Given the description of an element on the screen output the (x, y) to click on. 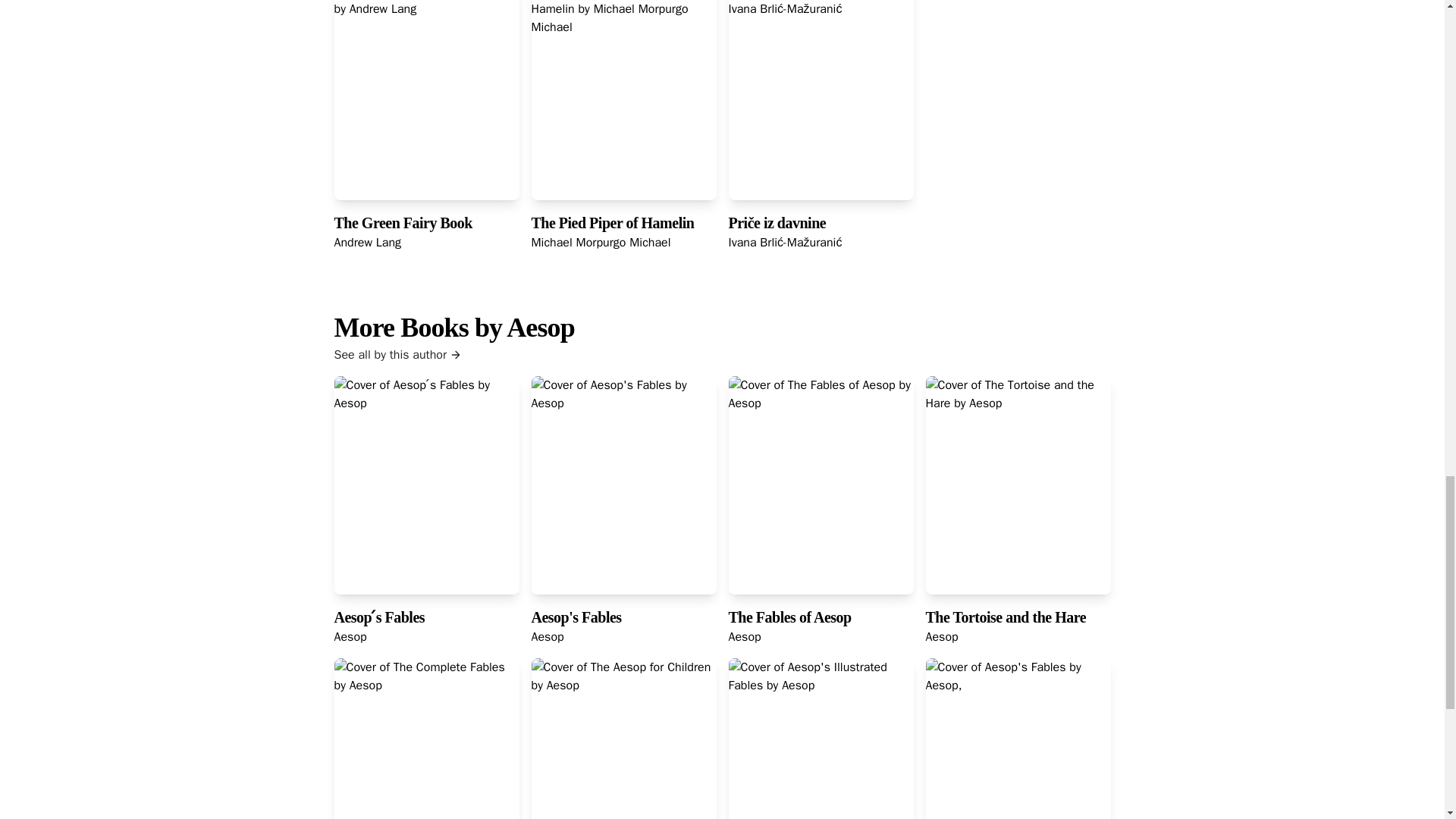
The Green Fairy Book (402, 222)
Aesop (744, 636)
The Tortoise and the Hare (1005, 617)
Aesop (547, 636)
The Fables of Aesop (789, 617)
Michael Morpurgo Michael (600, 242)
Aesop's Fables (576, 617)
Andrew Lang (367, 242)
See all by this author (721, 354)
Aesop (349, 636)
The Pied Piper of Hamelin (612, 222)
